Given the description of an element on the screen output the (x, y) to click on. 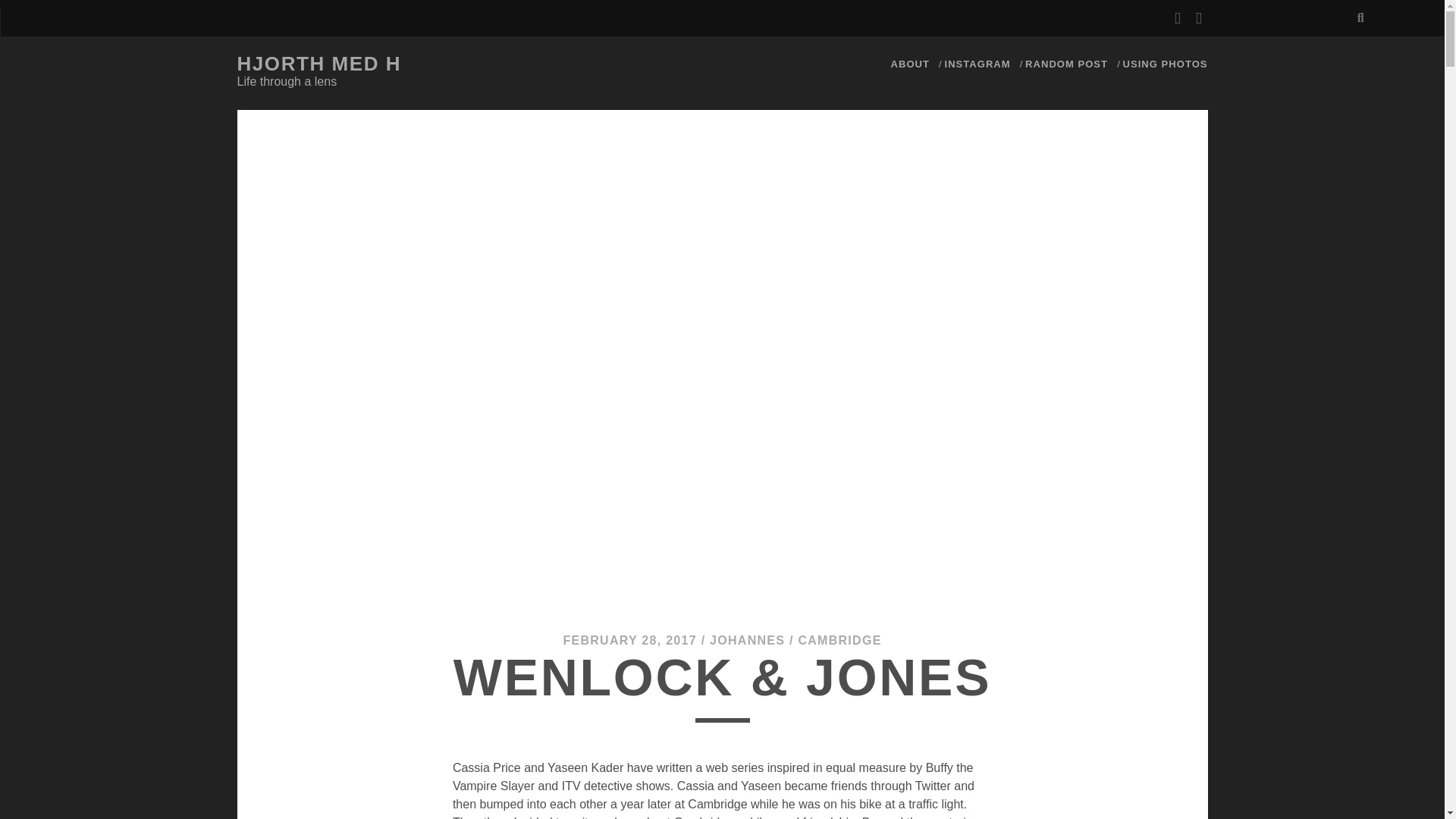
CAMBRIDGE (838, 640)
JOHANNES (747, 640)
Posts by Johannes (747, 640)
RANDOM POST (1066, 64)
ABOUT (910, 64)
INSTAGRAM (976, 64)
HJORTH MED H (318, 63)
USING PHOTOS (1165, 64)
